Given the description of an element on the screen output the (x, y) to click on. 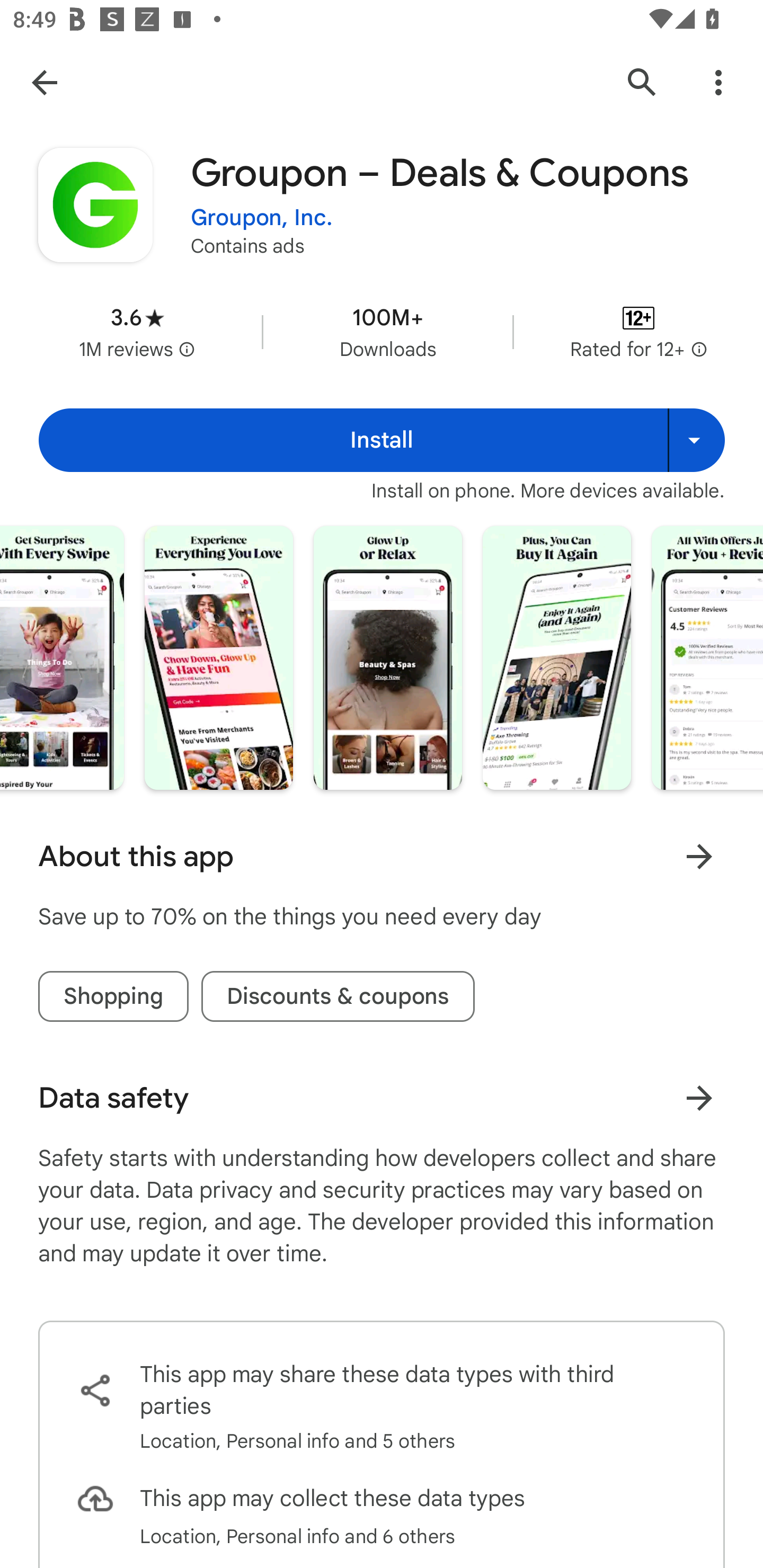
Navigate up (44, 81)
Search Google Play (642, 81)
More Options (718, 81)
Groupon, Inc. (261, 217)
Average rating 3.6 stars in 1 million reviews (137, 331)
Content rating Rated for 12+ (638, 331)
Install Install Install on more devices (381, 439)
Install on more devices (695, 439)
Screenshot "4" of "8" (61, 657)
Screenshot "5" of "8" (218, 657)
Screenshot "6" of "8" (387, 657)
Screenshot "7" of "8" (556, 657)
Screenshot "8" of "8" (707, 657)
About this app Learn more About this app (381, 856)
Learn more About this app (699, 856)
Shopping tag (113, 996)
Discounts & coupons tag (337, 996)
Data safety Learn more about data safety (381, 1098)
Learn more about data safety (699, 1097)
